Given the description of an element on the screen output the (x, y) to click on. 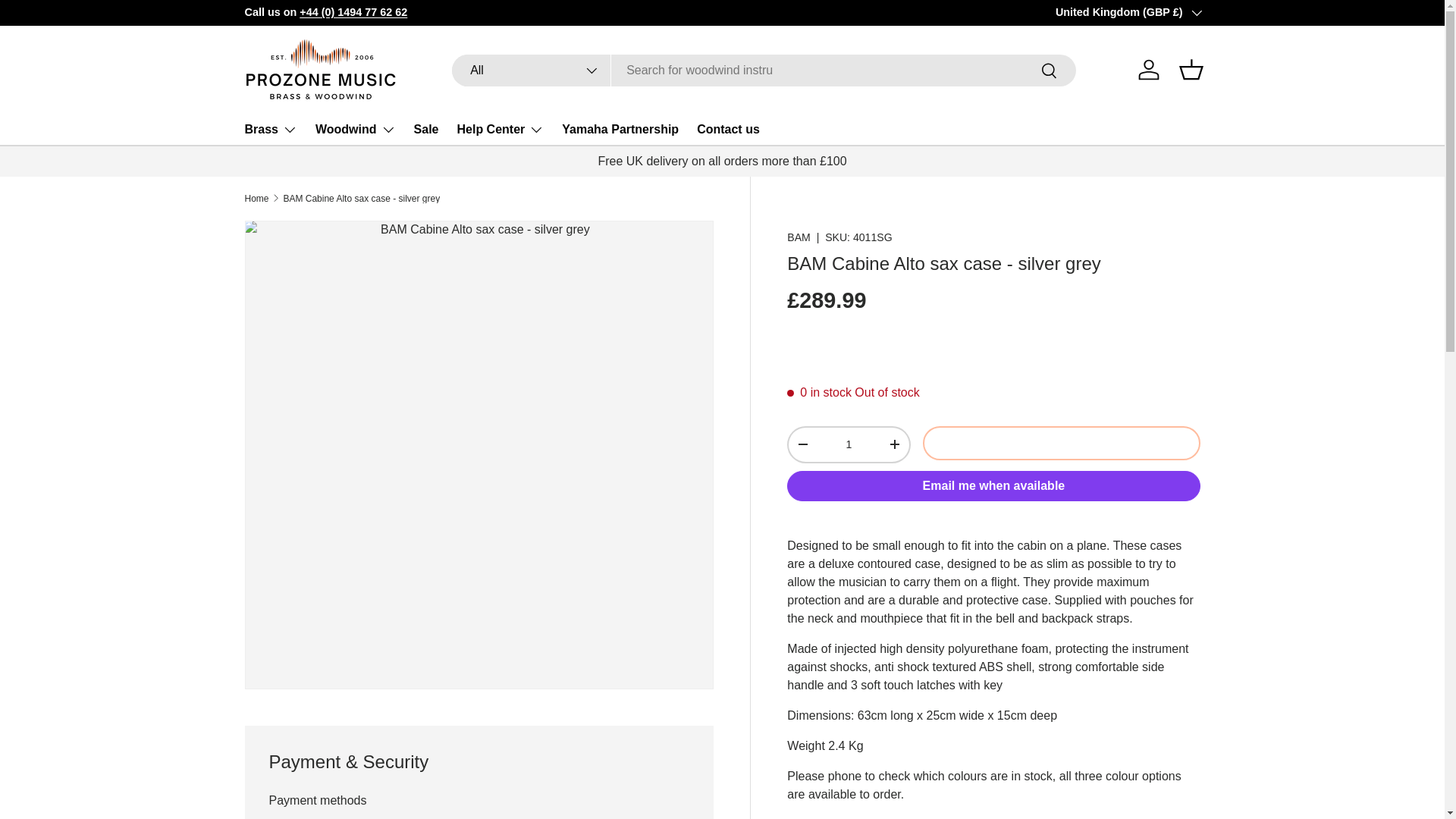
Search (1049, 71)
Log in (1147, 69)
Skip to content (69, 21)
All (531, 70)
Basket (1190, 69)
Brass (270, 129)
1 (847, 444)
